Given the description of an element on the screen output the (x, y) to click on. 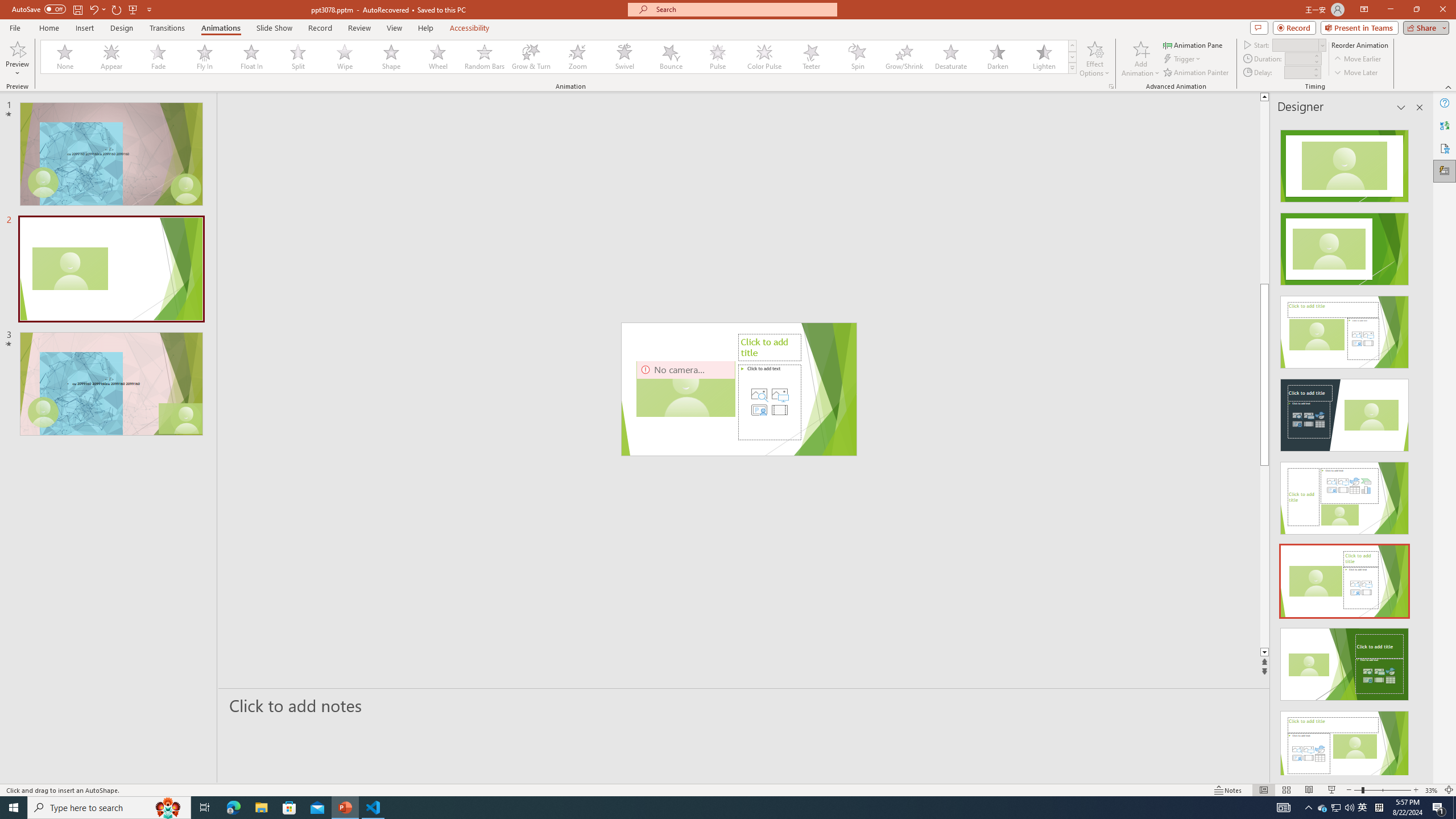
Swivel (624, 56)
AutomationID: AnimationGallery (558, 56)
Darken (997, 56)
Lighten (1043, 56)
Animation Pane (1193, 44)
Camera 3, No camera detected. (685, 388)
Animation Styles (1071, 67)
